Given the description of an element on the screen output the (x, y) to click on. 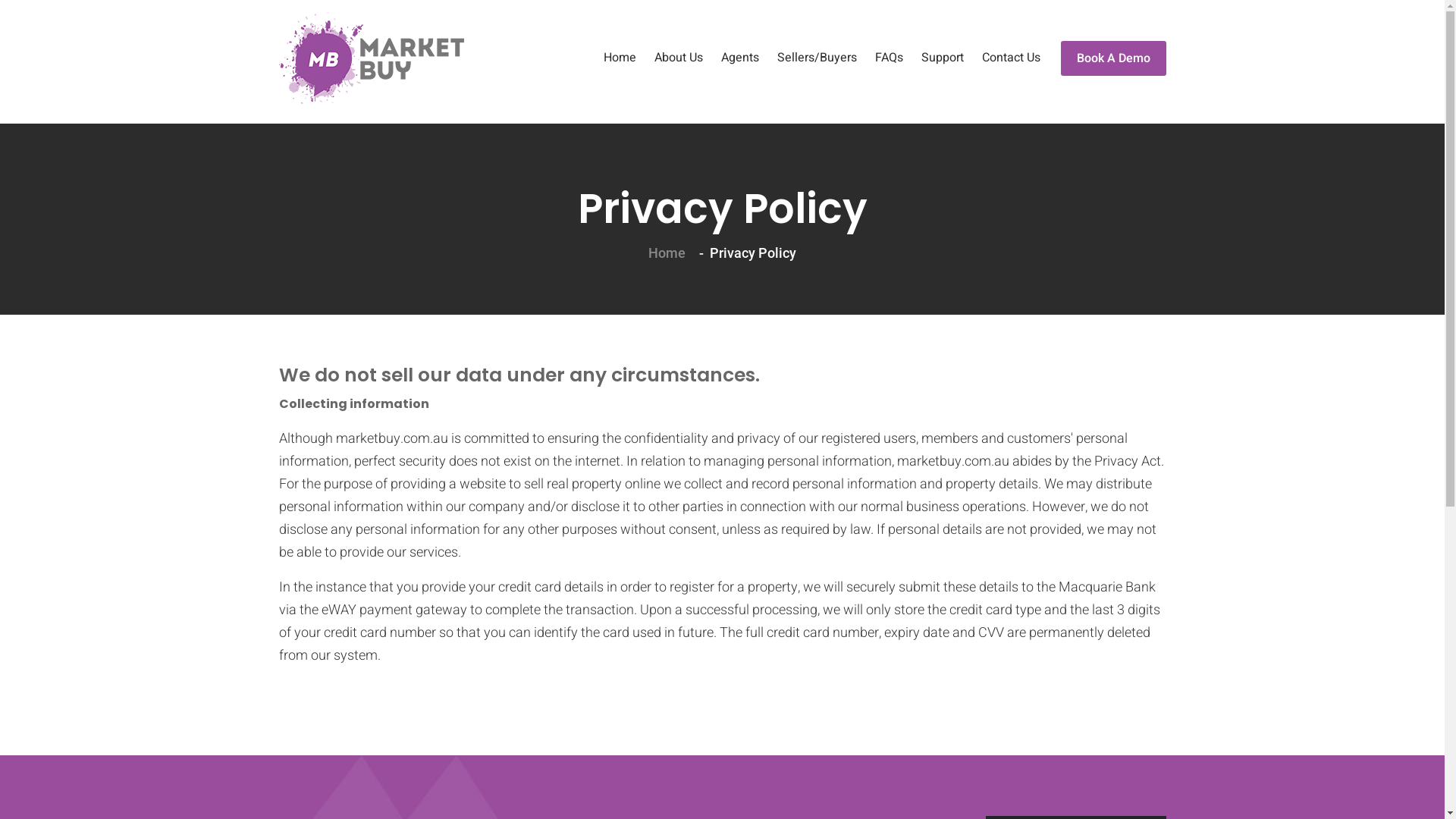
Home Element type: text (619, 58)
Professionals Lifestyle on the Market Buy platform Element type: hover (371, 57)
Home Element type: text (666, 252)
Sellers/Buyers Element type: text (816, 58)
Contact Us Element type: text (1010, 58)
FAQs Element type: text (889, 58)
Support Element type: text (941, 58)
About Us Element type: text (677, 58)
Agents Element type: text (739, 58)
Book A Demo Element type: text (1112, 57)
